Given the description of an element on the screen output the (x, y) to click on. 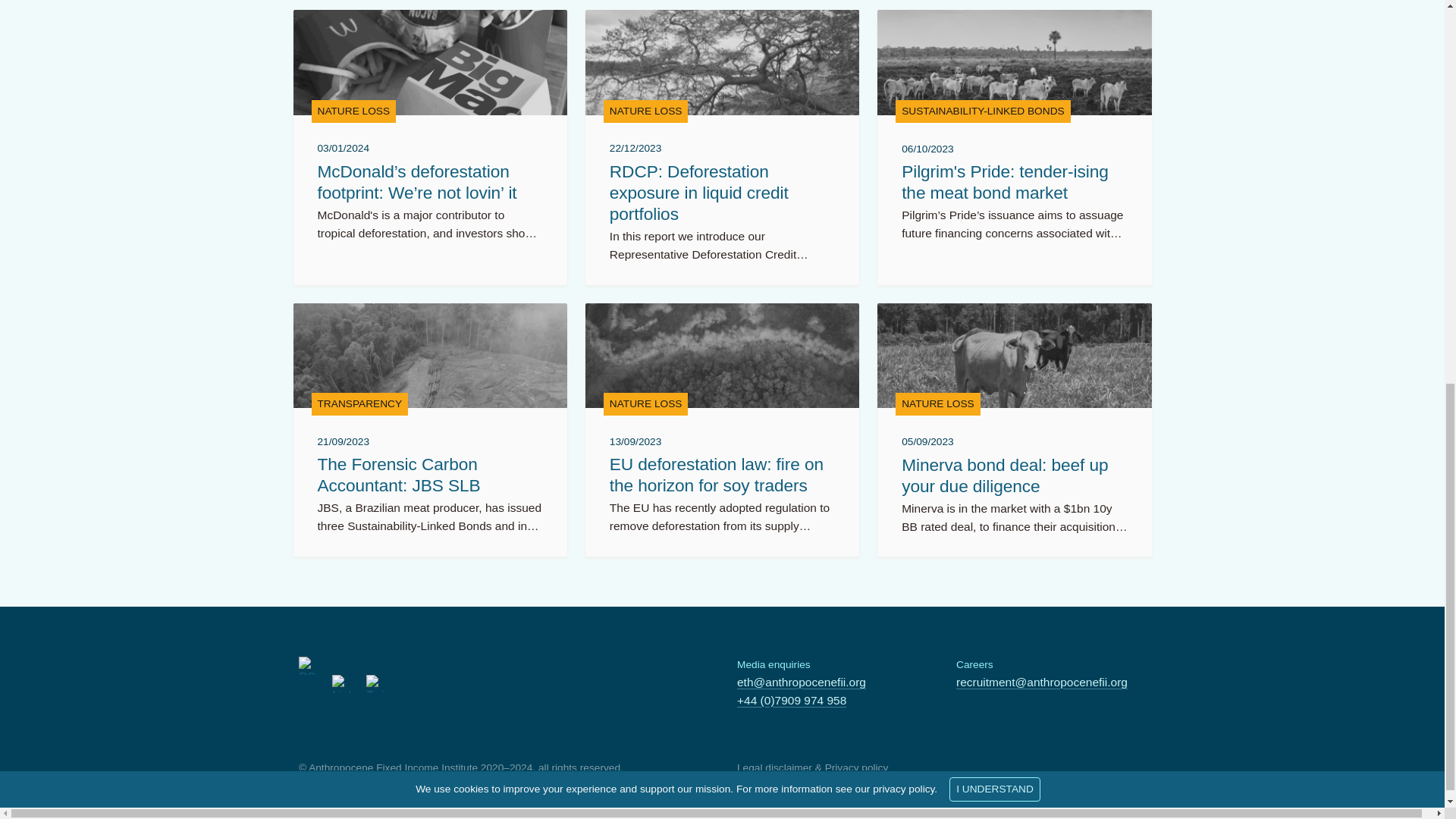
TRANSPARENCY (359, 403)
Tree bw (722, 61)
NATURE LOSS (646, 111)
Pilgrim's Pride: tender-ising the meat bond market (1004, 181)
NATURE LOSS (646, 403)
Deforestation (429, 355)
Mc Donalds (429, 61)
SUSTAINABILITY-LINKED BONDS (982, 111)
NATURE LOSS (353, 111)
Minerva bond deal: beef up your due diligence (1004, 474)
